Given the description of an element on the screen output the (x, y) to click on. 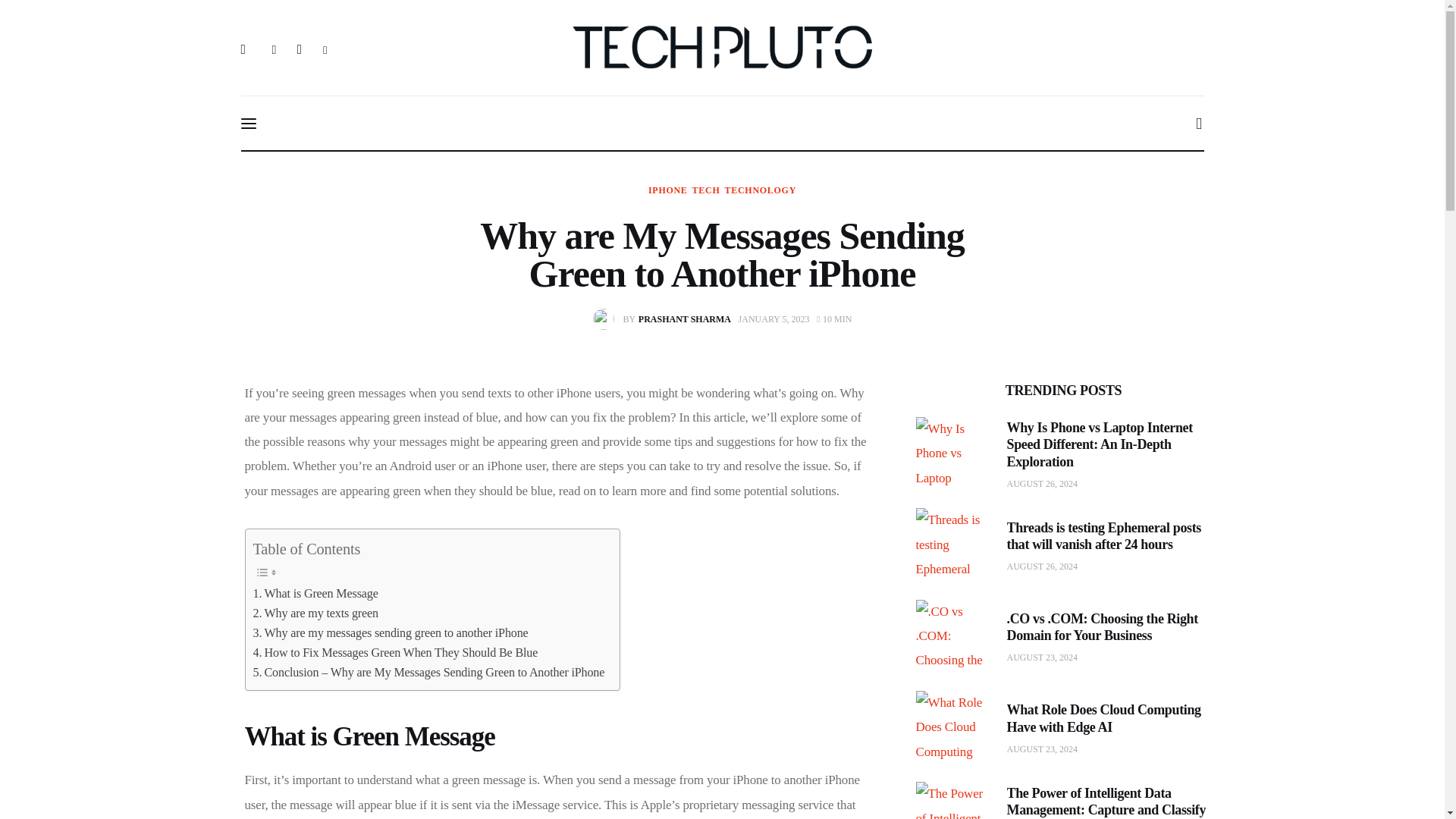
What is Green Message (315, 593)
How to Fix Messages Green When They Should Be Blue (395, 652)
TECHNOLOGY (760, 190)
TECH (706, 190)
Why are my texts green (665, 319)
IPHONE (315, 613)
Why are my messages sending green to another iPhone (667, 190)
